Given the description of an element on the screen output the (x, y) to click on. 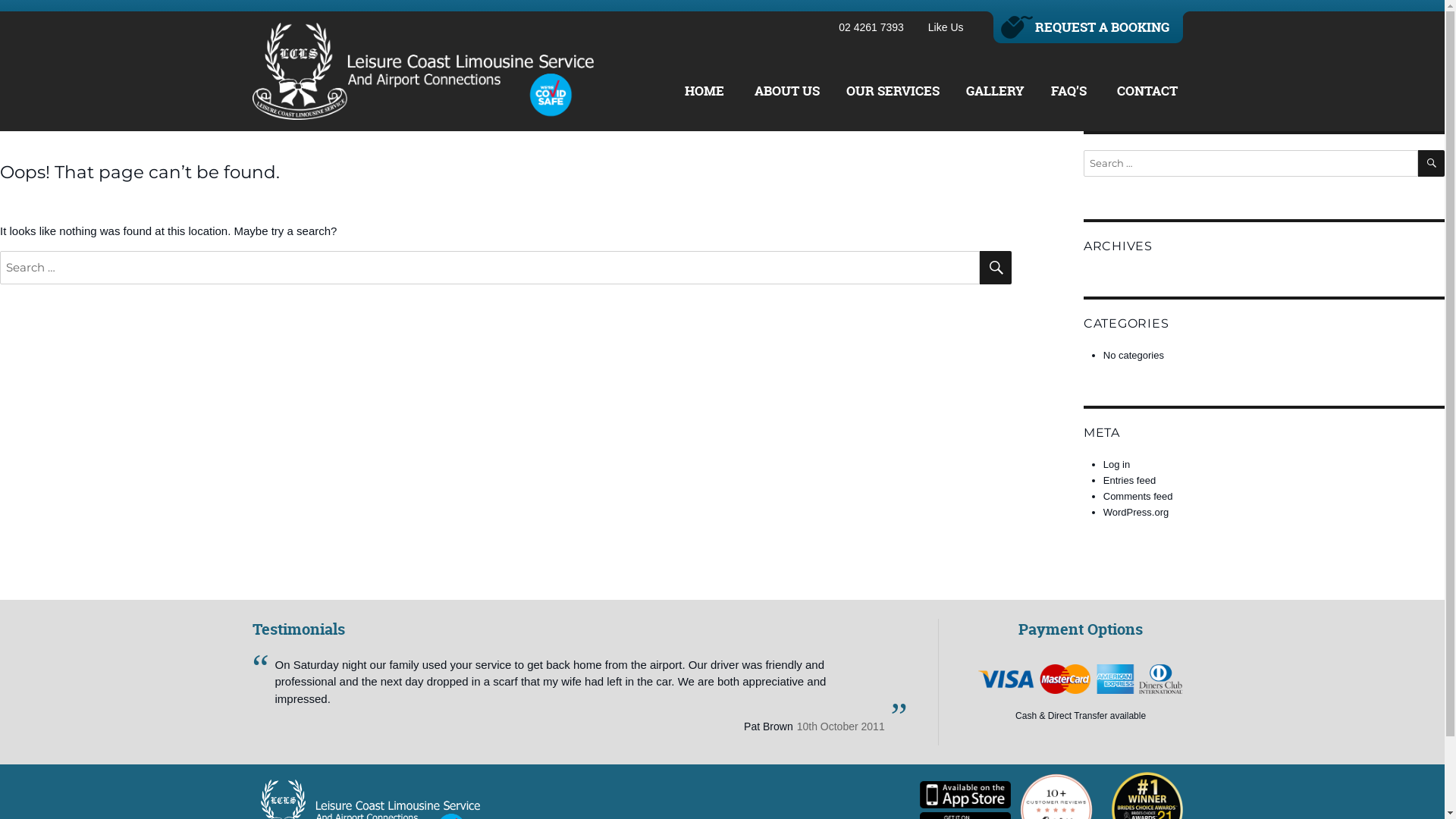
REQUEST A BOOKING Element type: text (1087, 27)
GALLERY Element type: text (992, 90)
02 4261 7393 Element type: text (868, 27)
Like Us Element type: text (942, 27)
Comments feed Element type: text (1138, 496)
SEARCH Element type: text (1431, 163)
Entries feed Element type: text (1129, 480)
SEARCH Element type: text (995, 267)
HOME Element type: text (704, 90)
OUR SERVICES Element type: text (889, 90)
Log in Element type: text (1116, 464)
CONTACT Element type: text (1147, 90)
ABOUT US Element type: text (784, 90)
WordPress.org Element type: text (1135, 511)
